Given the description of an element on the screen output the (x, y) to click on. 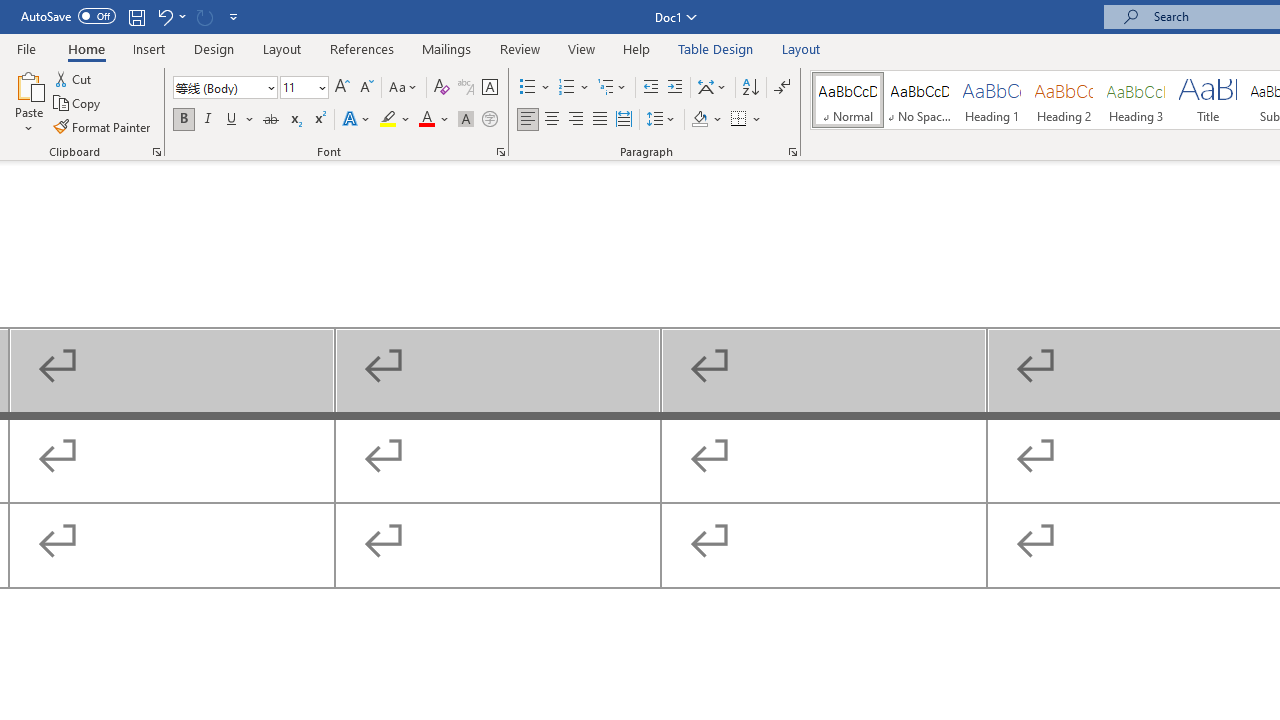
Text Highlight Color Yellow (388, 119)
Bold (183, 119)
Align Left (527, 119)
